Given the description of an element on the screen output the (x, y) to click on. 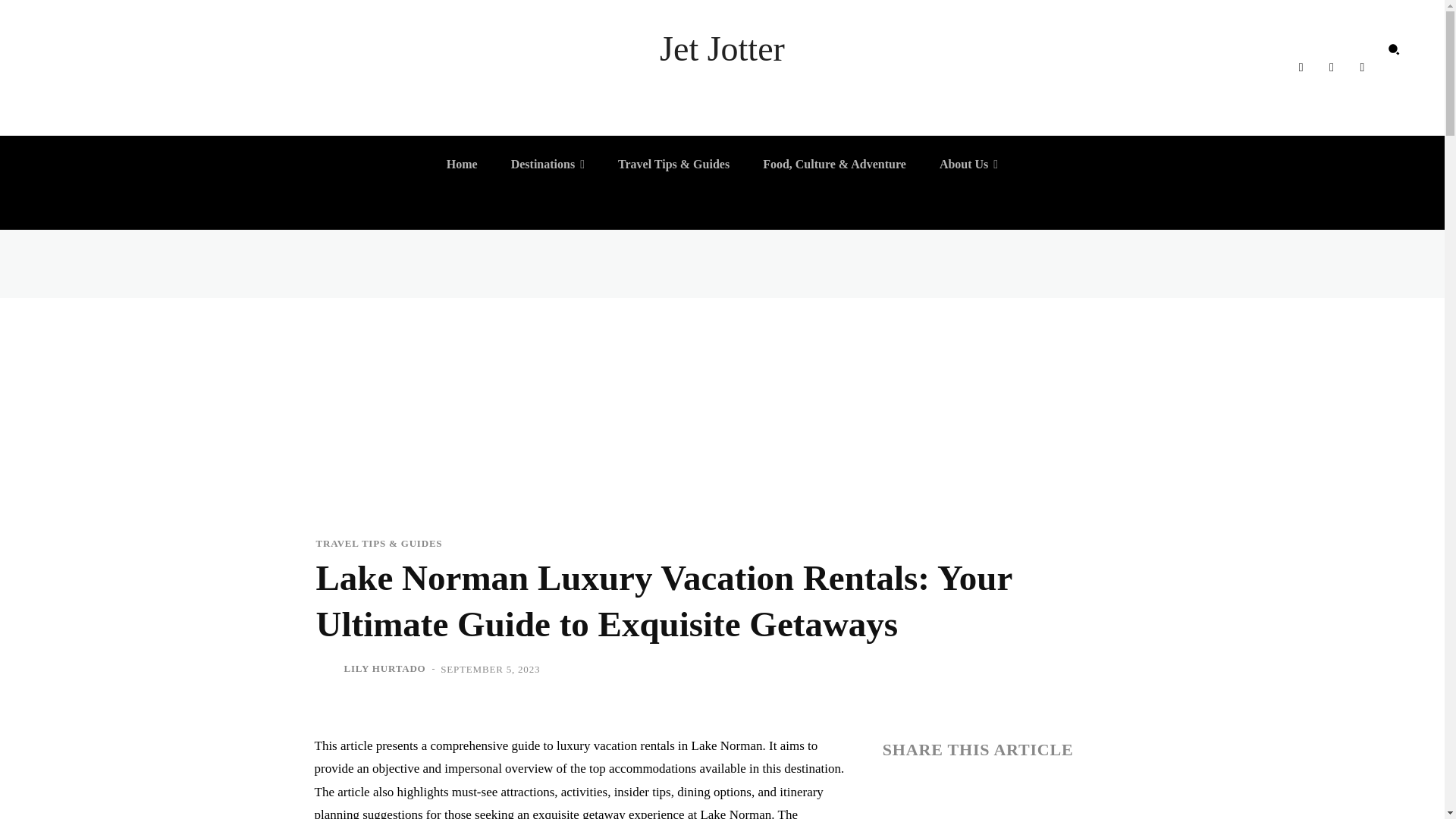
LILY HURTADO (384, 668)
Instagram (1331, 67)
Jet Jotter (722, 49)
Lily Hurtado (327, 668)
About Us (968, 164)
Destinations (547, 164)
Home (461, 164)
Facebook (1299, 67)
Twitter (1362, 67)
